Given the description of an element on the screen output the (x, y) to click on. 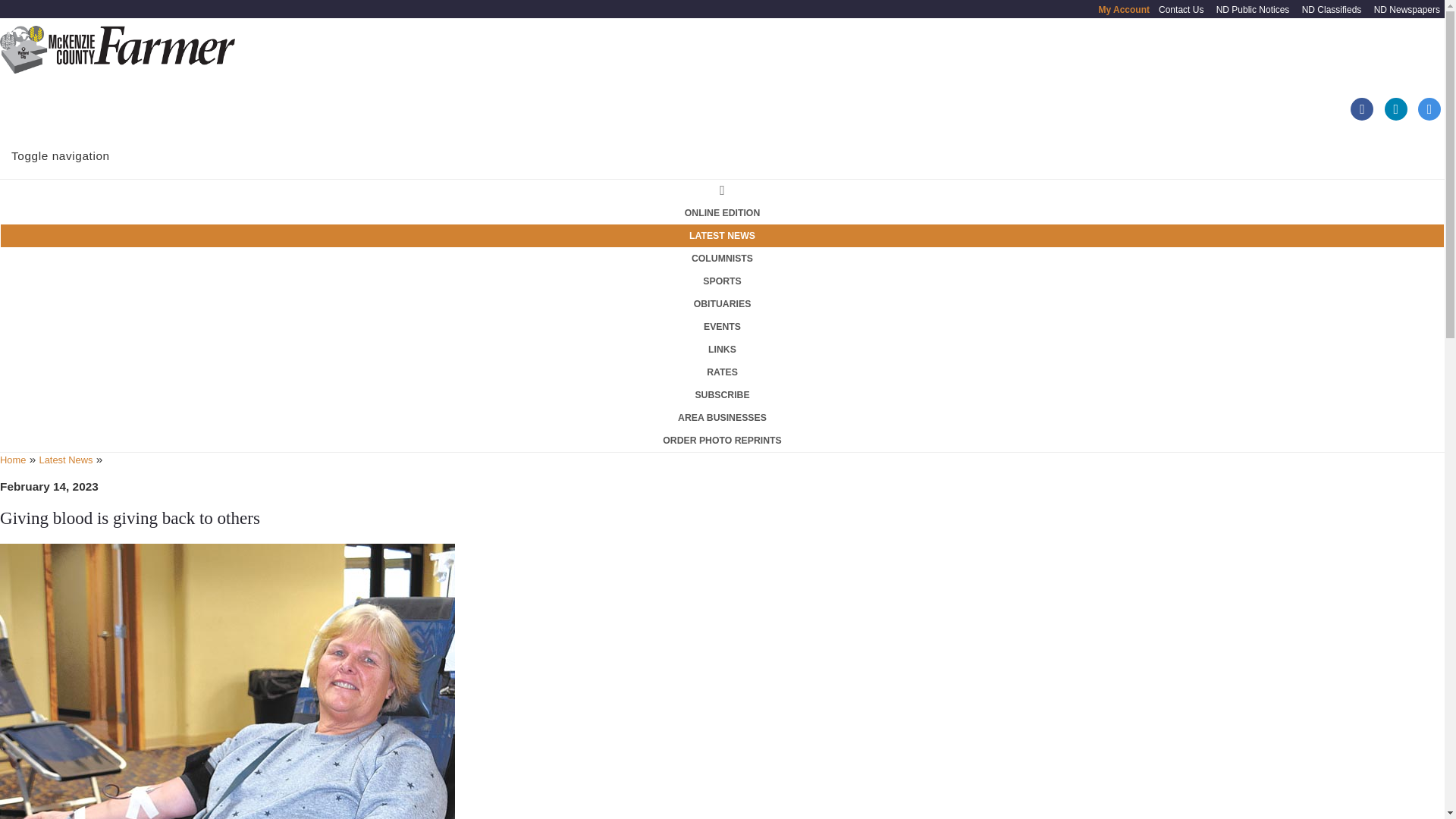
ND Classifieds (1332, 9)
LINKS (722, 349)
My Account (1123, 9)
SPORTS (722, 281)
AREA BUSINESSES (722, 417)
OBITUARIES (722, 303)
Toggle navigation (60, 152)
ND Newspapers (1407, 9)
ONLINE EDITION (722, 212)
EVENTS (722, 326)
ND Public Notices (1252, 9)
COLUMNISTS (722, 258)
HOME (722, 190)
Contact Us (1181, 9)
SUBSCRIBE (722, 395)
